Given the description of an element on the screen output the (x, y) to click on. 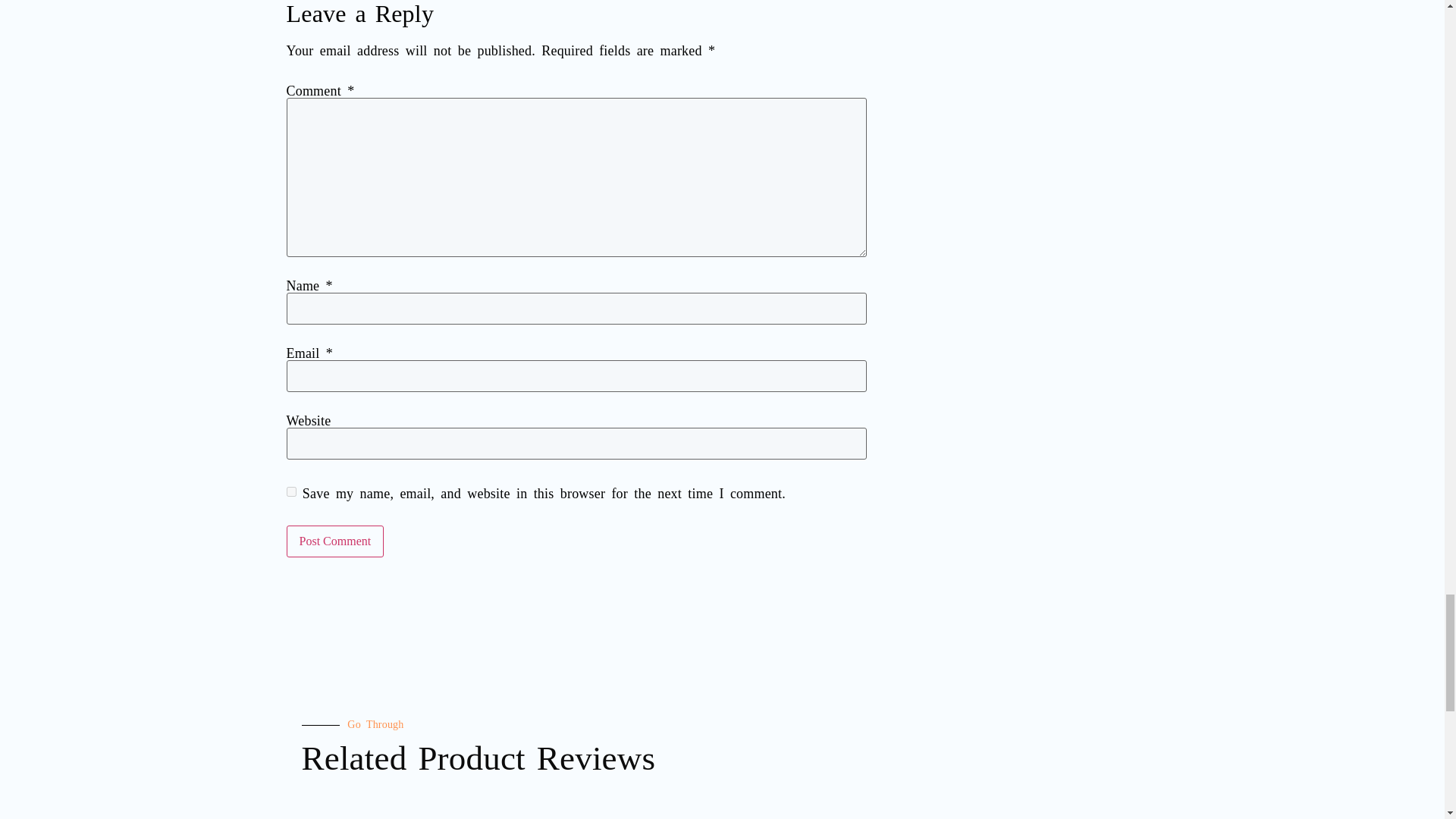
Post Comment (335, 541)
yes (291, 491)
Post Comment (335, 541)
